Given the description of an element on the screen output the (x, y) to click on. 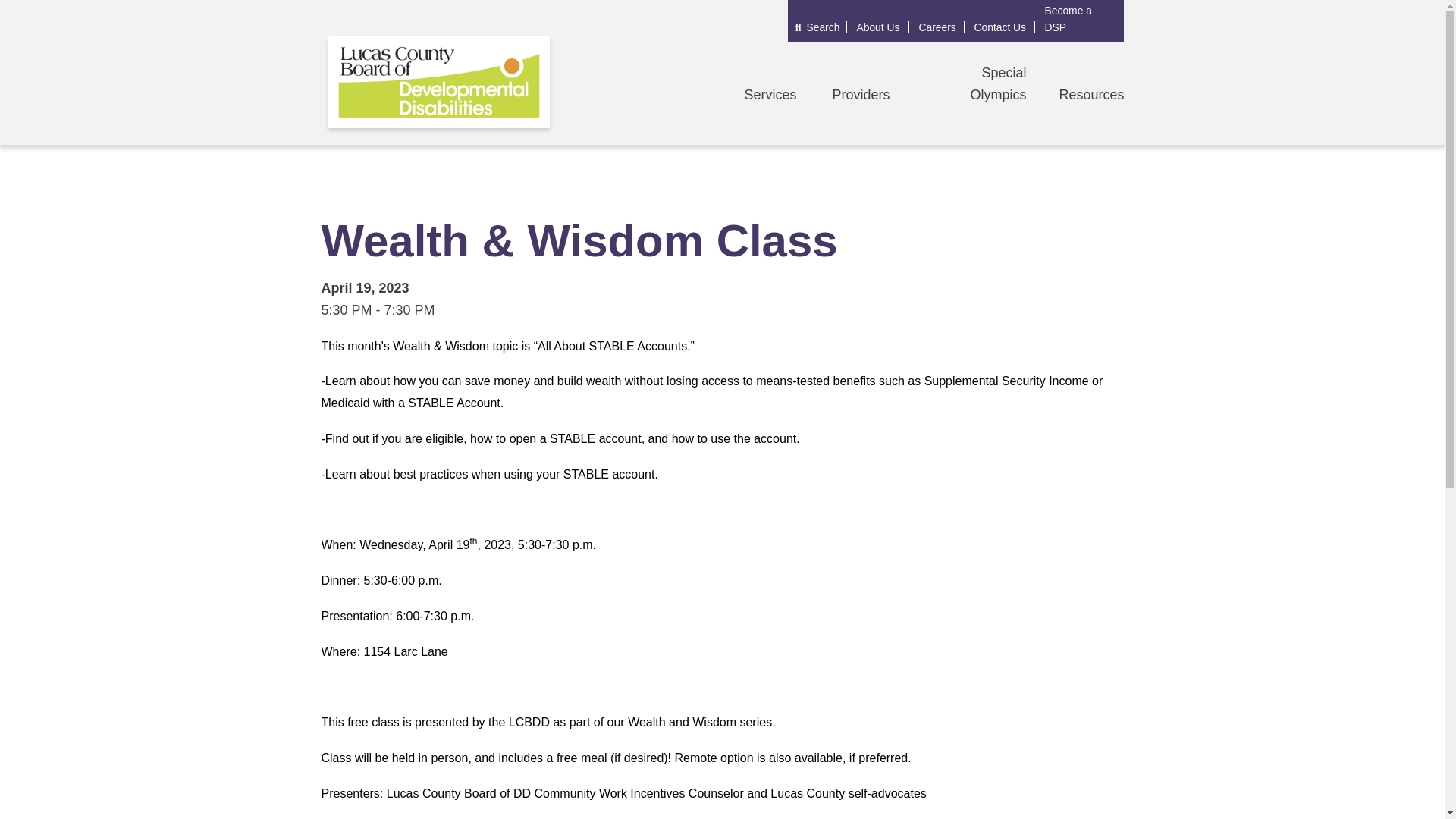
Search (817, 27)
Become a DSP (1080, 19)
Special Olympics (997, 83)
Services (770, 94)
Resources (1091, 94)
About Us (879, 27)
Contact Us (1001, 27)
Providers (860, 94)
Careers (938, 27)
